Given the description of an element on the screen output the (x, y) to click on. 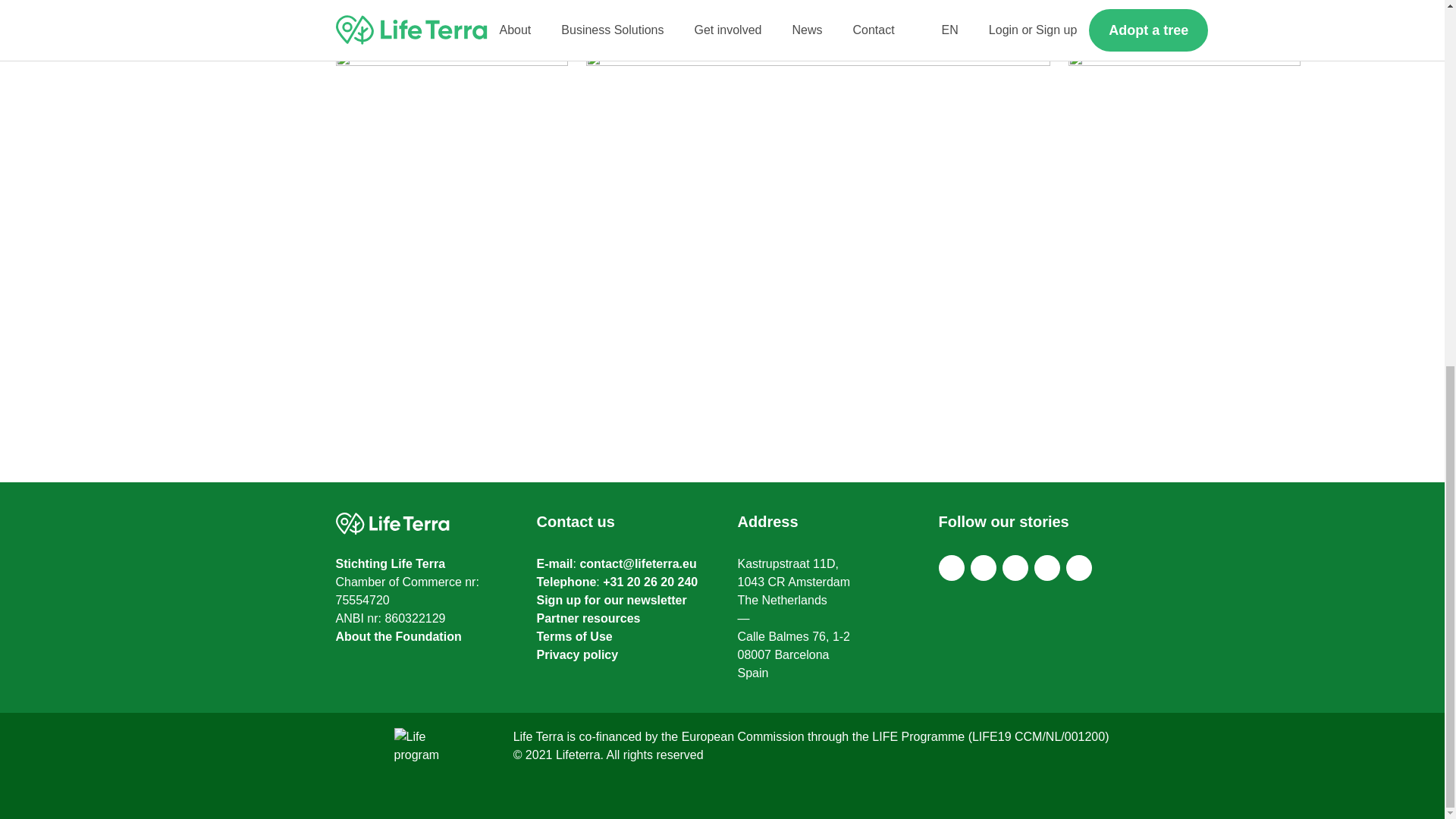
Partner resources (588, 617)
Partner resources (588, 617)
Terms of Use (574, 635)
About the Foundation (397, 635)
Privacy policy (577, 654)
Sign up for our newsletter (612, 599)
